Given the description of an element on the screen output the (x, y) to click on. 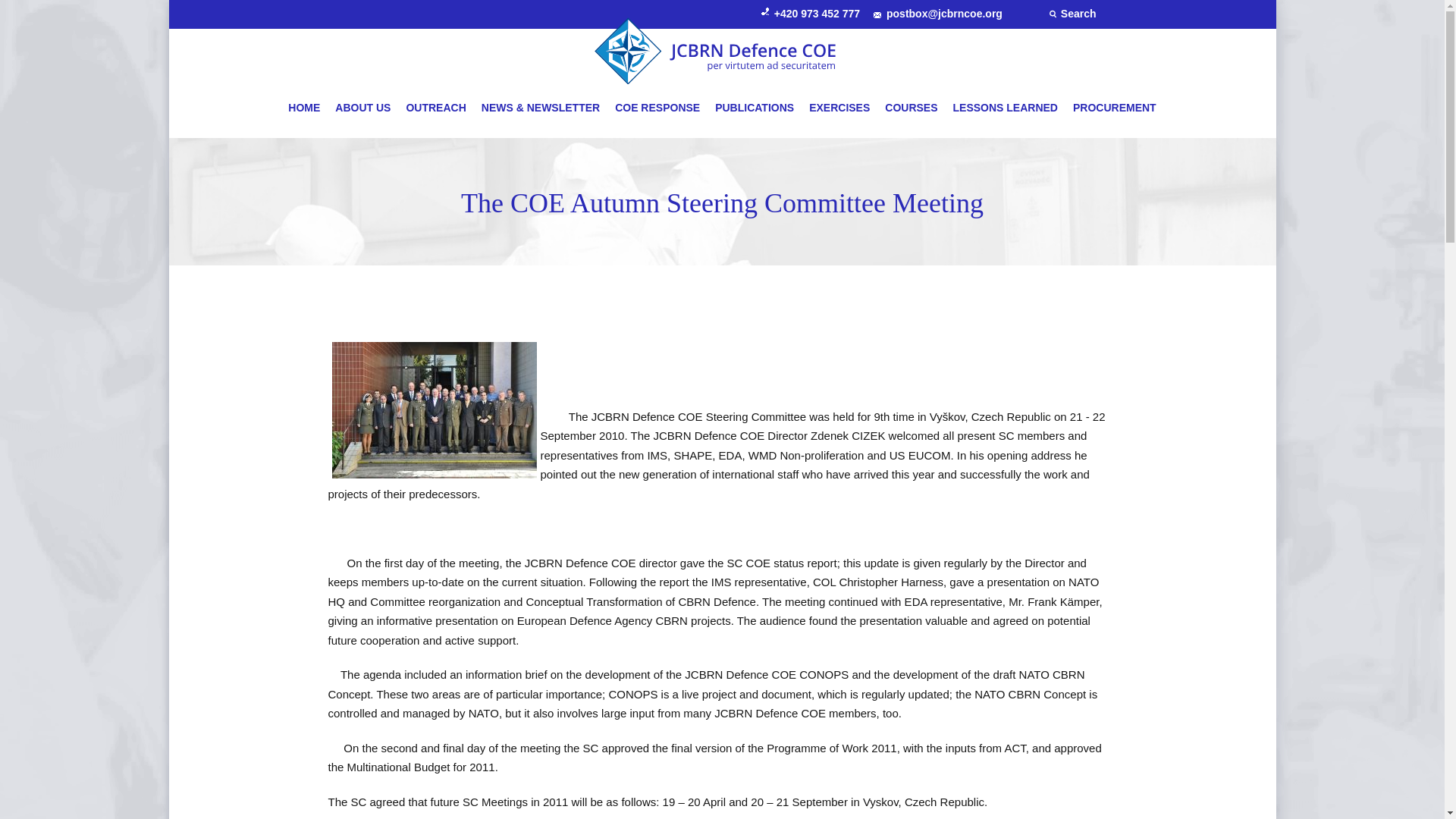
Training and Education Portal (839, 107)
HOME (307, 107)
ABOUT US (362, 107)
Search (1072, 13)
Lessons Learned Portal (1004, 107)
OUTREACH (435, 107)
